Given the description of an element on the screen output the (x, y) to click on. 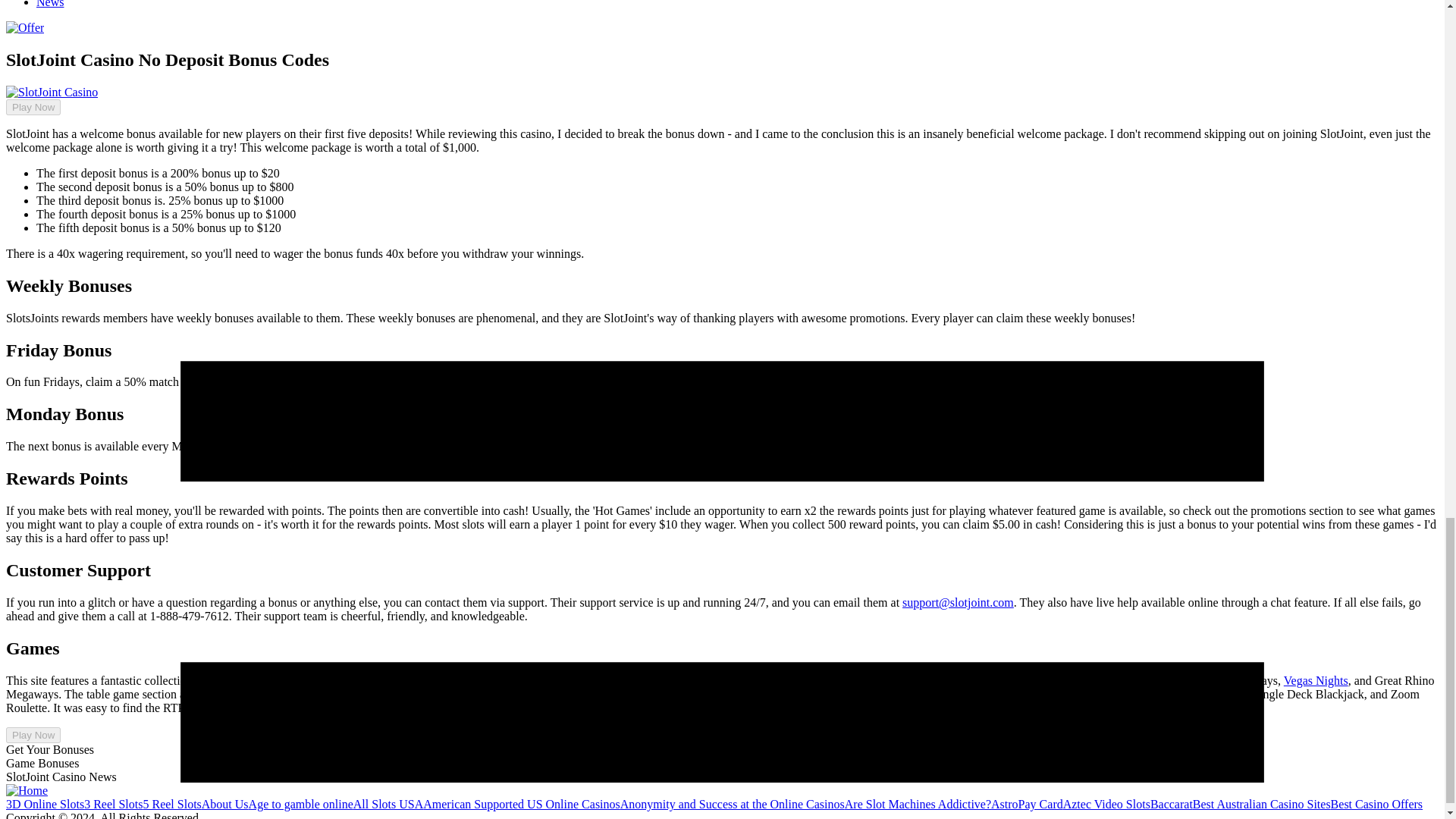
Play Now (33, 734)
3D Online Slots (44, 803)
American Supported US Online Casinos (521, 803)
Baccarat (1171, 803)
About Us (225, 803)
Age to gamble online (300, 803)
Anonymity and Success at the Online Casinos (732, 803)
Vegas Nights (1316, 680)
Best Australian Casino Sites (1261, 803)
3 Reel Slots (113, 803)
